Given the description of an element on the screen output the (x, y) to click on. 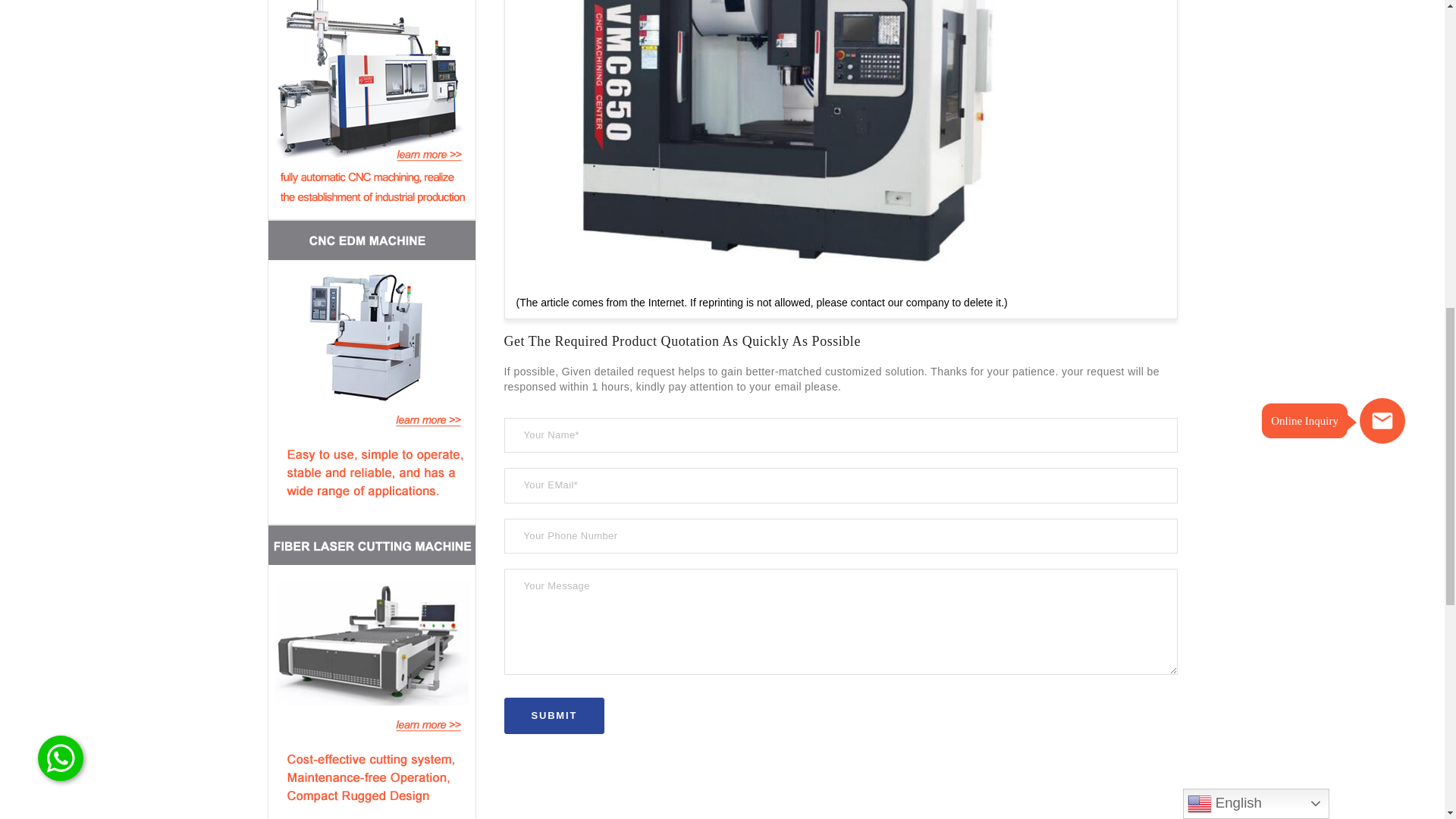
Submit (553, 715)
Submit (553, 715)
